Given the description of an element on the screen output the (x, y) to click on. 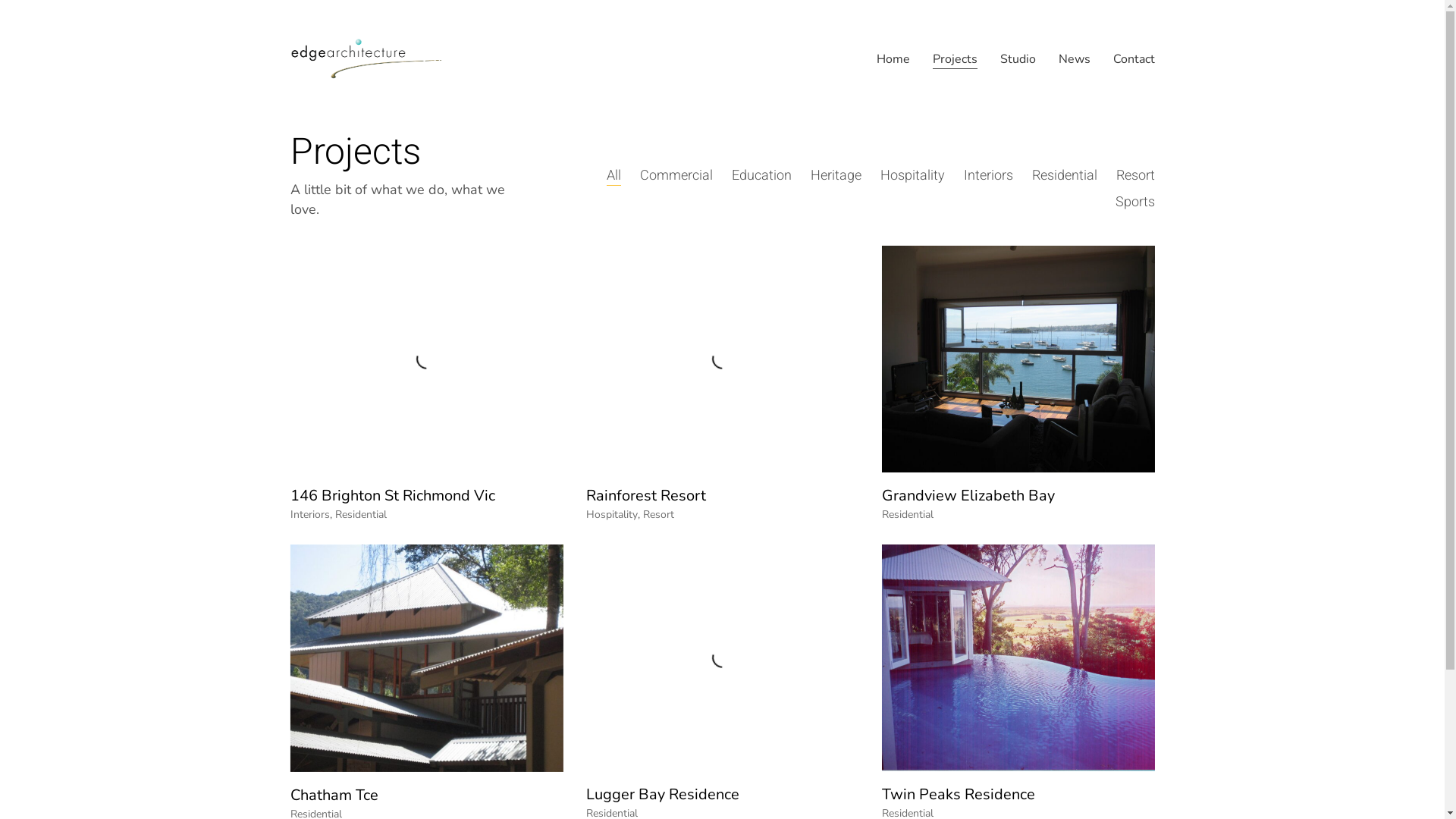
All Element type: text (613, 175)
Sports Element type: text (1134, 202)
Hospitality Element type: text (911, 175)
Projects Element type: text (954, 59)
Residential Element type: text (1063, 175)
Rainforest Resort Element type: text (645, 495)
Heritage Element type: text (834, 175)
News Element type: text (1074, 59)
Home Element type: text (893, 59)
Education Element type: text (760, 175)
Resort Element type: text (1135, 175)
Grandview Elizabeth Bay Element type: text (967, 495)
Chatham Tce Element type: text (333, 795)
Residential Element type: text (906, 515)
Interiors Element type: text (309, 515)
Commercial Element type: text (676, 175)
Contact Element type: text (1133, 59)
Lugger Bay Residence Element type: text (661, 794)
Studio Element type: text (1017, 59)
Hospitality Element type: text (611, 515)
Residential Element type: text (360, 515)
146 Brighton St Richmond Vic Element type: text (391, 495)
Interiors Element type: text (987, 175)
Twin Peaks Residence Element type: text (957, 794)
Resort Element type: text (658, 515)
